Given the description of an element on the screen output the (x, y) to click on. 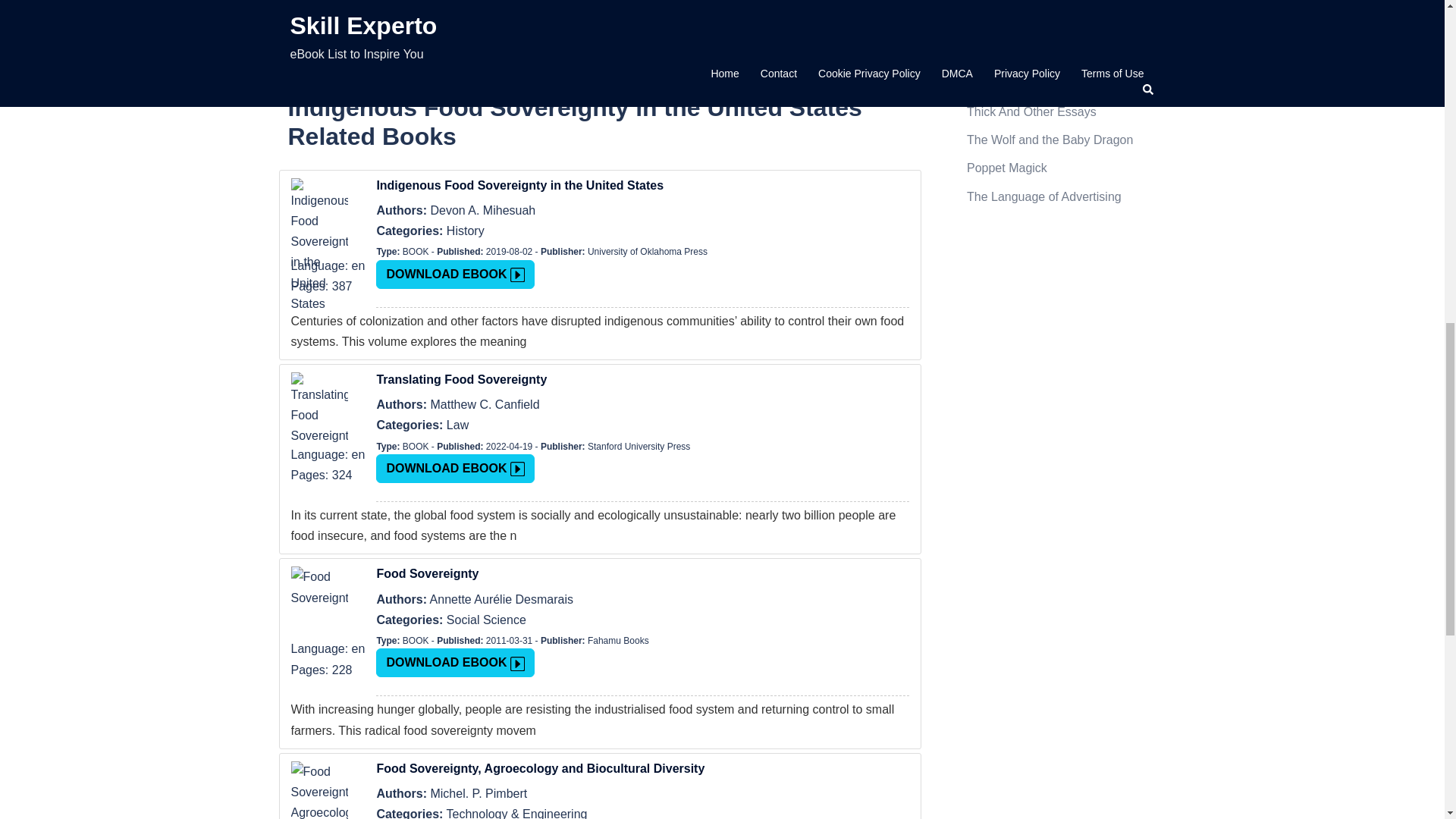
Food Sovereignty (641, 573)
DOWNLOAD EBOOK (454, 662)
Indigenous Food Sovereignty in the United States (641, 185)
Translating Food Sovereignty (641, 379)
DOWNLOAD EBOOK (454, 468)
Food Sovereignty, Agroecology and Biocultural Diversity (641, 768)
DOWNLOAD EBOOK (454, 274)
